Given the description of an element on the screen output the (x, y) to click on. 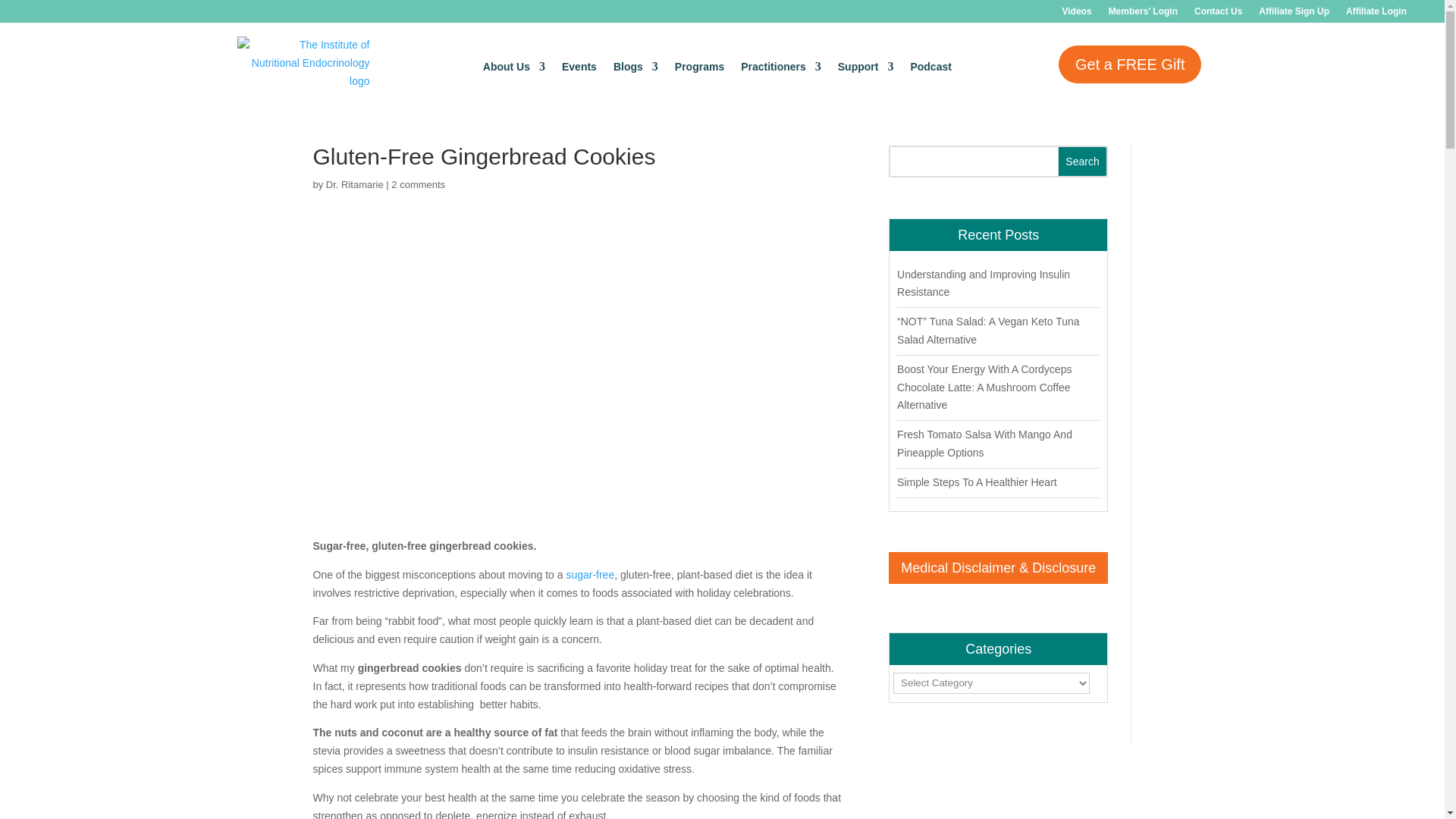
sugar-free (590, 574)
Affiliate Sign Up (1294, 13)
Support (865, 66)
Posts by Dr. Ritamarie (355, 184)
About Us (513, 66)
Search (1083, 161)
Dr. Ritamarie (355, 184)
Affiliate Login (1375, 13)
Contact Us (1217, 13)
Practitioners (781, 66)
2 comments (418, 184)
Get a FREE Gift (1129, 64)
Videos (1075, 13)
